Given the description of an element on the screen output the (x, y) to click on. 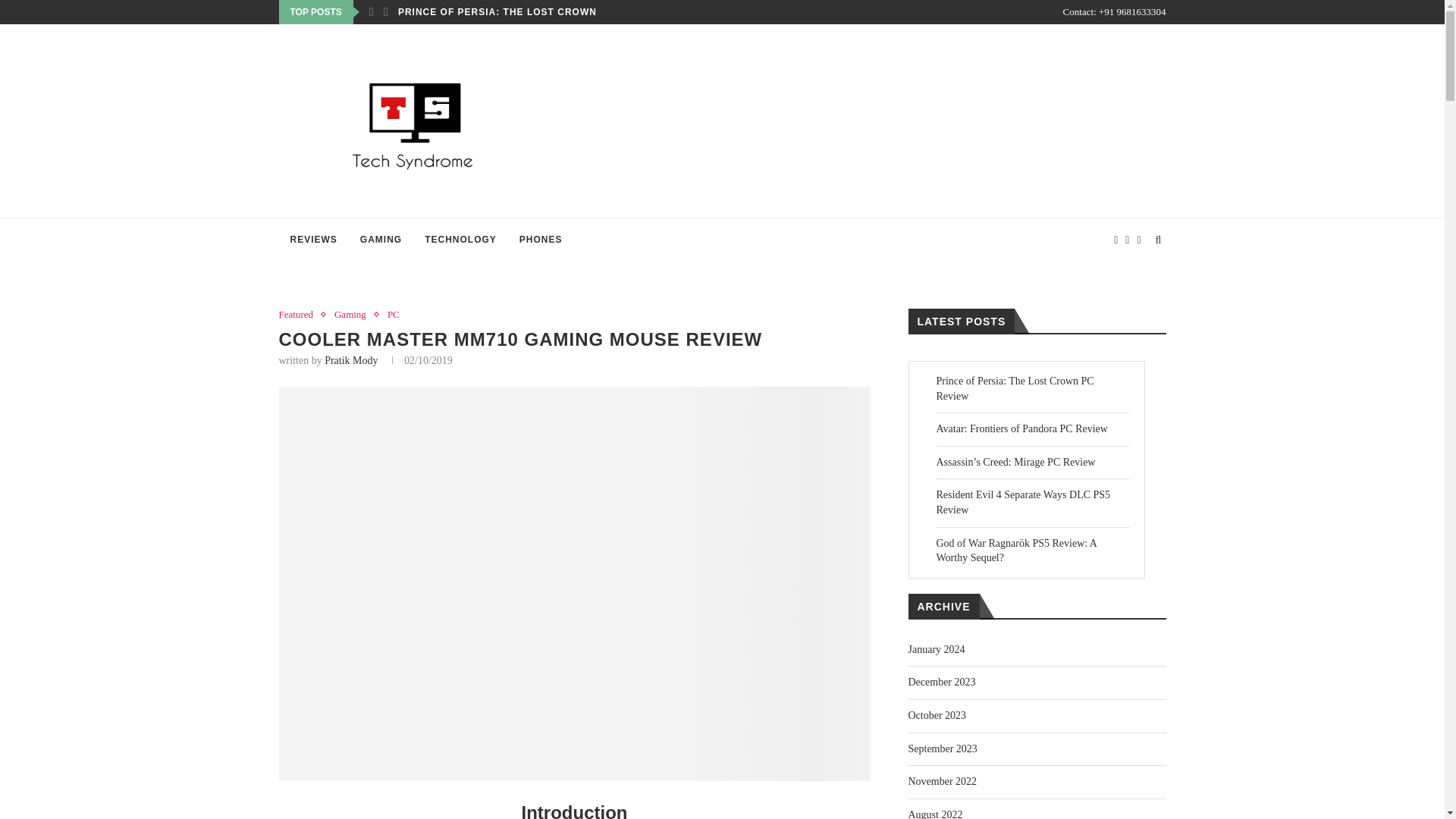
Pratik Mody (350, 360)
PRINCE OF PERSIA: THE LOST CROWN PC REVIEW (527, 12)
Featured (299, 314)
PHONES (540, 239)
PC (392, 314)
GAMING (381, 239)
TECHNOLOGY (460, 239)
Gaming (354, 314)
REVIEWS (314, 239)
